Given the description of an element on the screen output the (x, y) to click on. 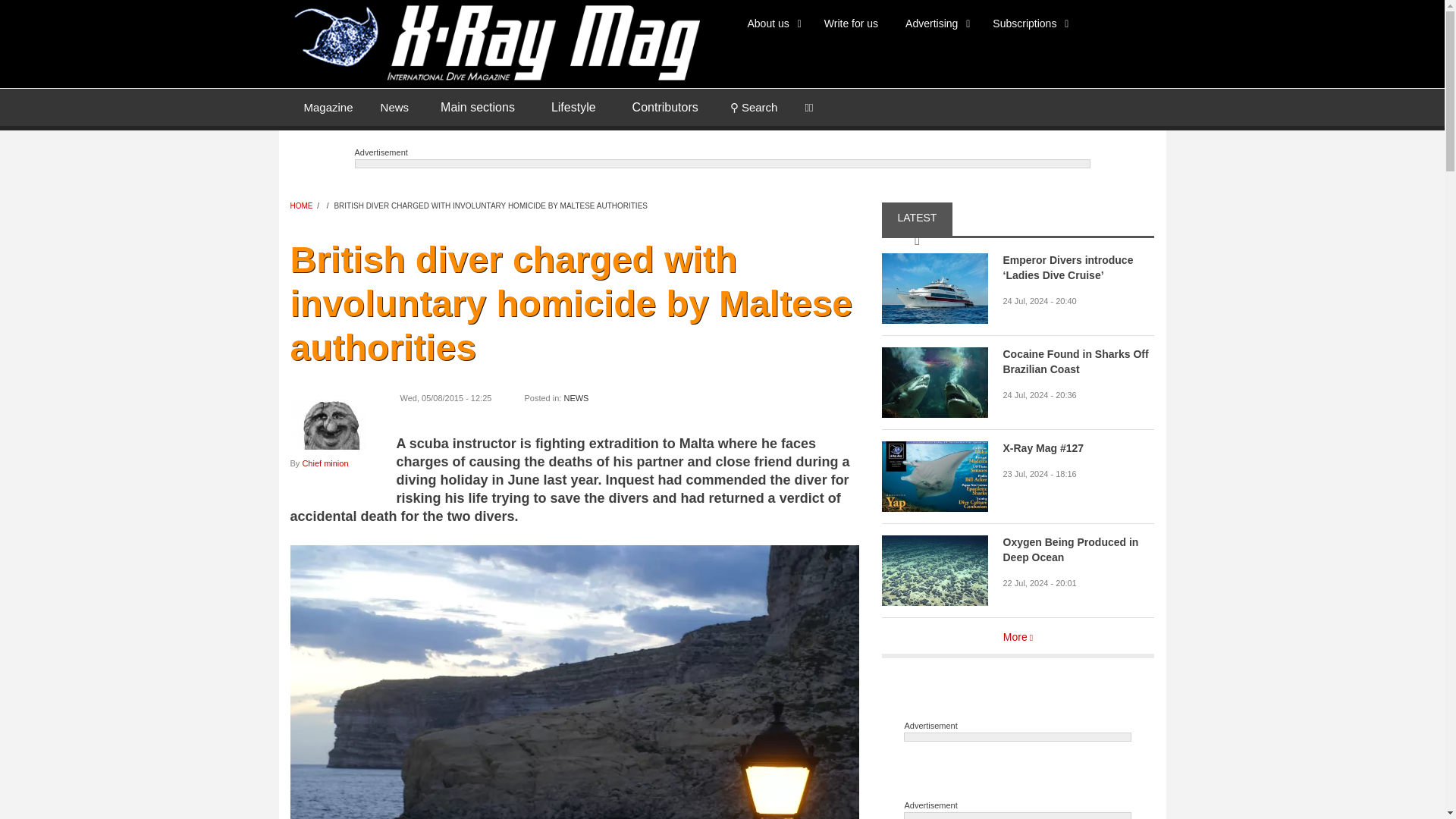
Back issues (327, 106)
Advertising (934, 23)
Latest posts (394, 106)
Home (493, 41)
Main sections (477, 107)
Magazine (327, 106)
Write for us (850, 23)
Subscriptions (1027, 23)
News (394, 106)
Advertising and promotions (934, 23)
About us (771, 23)
